Given the description of an element on the screen output the (x, y) to click on. 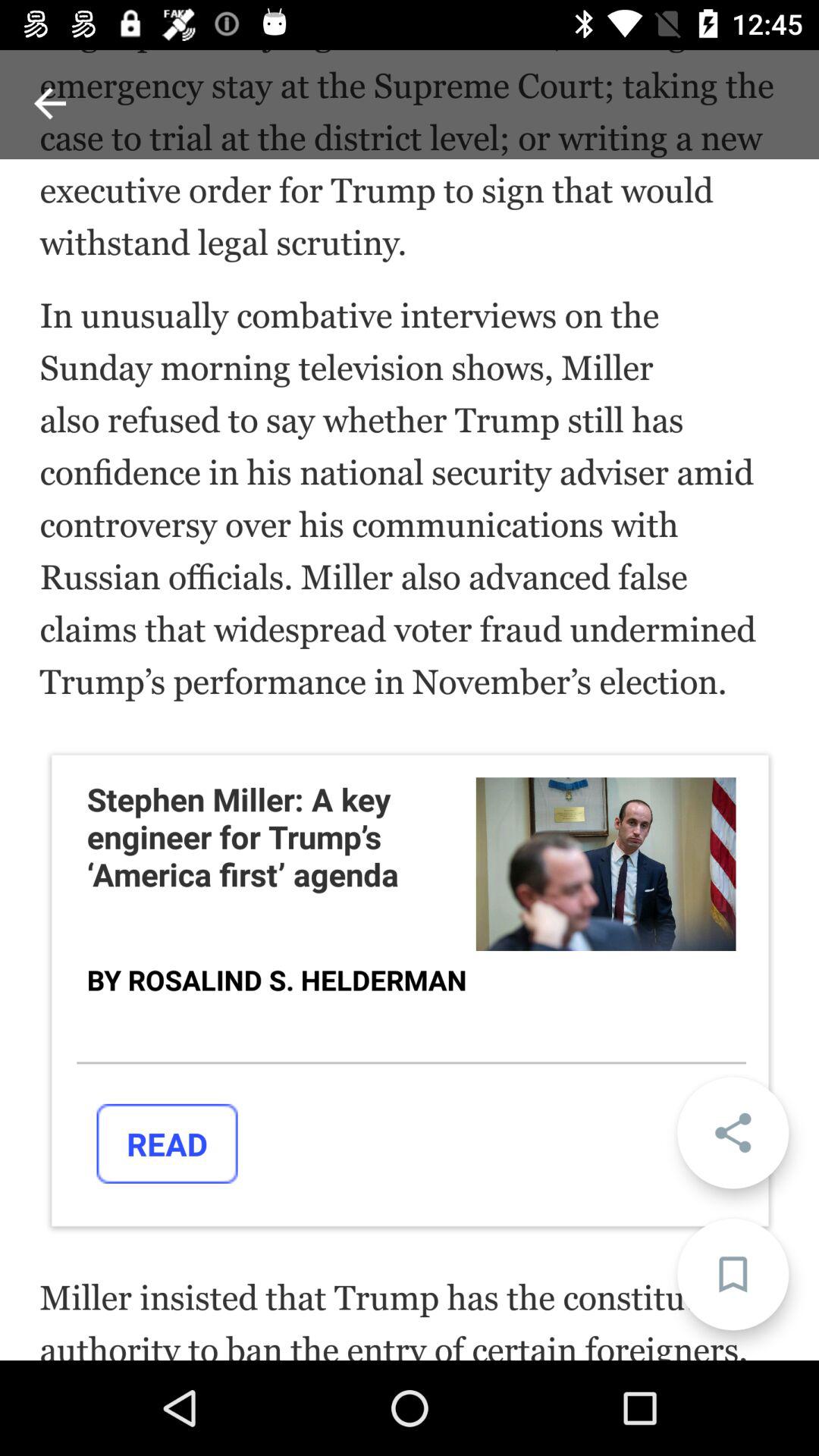
click the left arrow at top left corner (50, 103)
select the image at the right bottom of the page (605, 863)
